Given the description of an element on the screen output the (x, y) to click on. 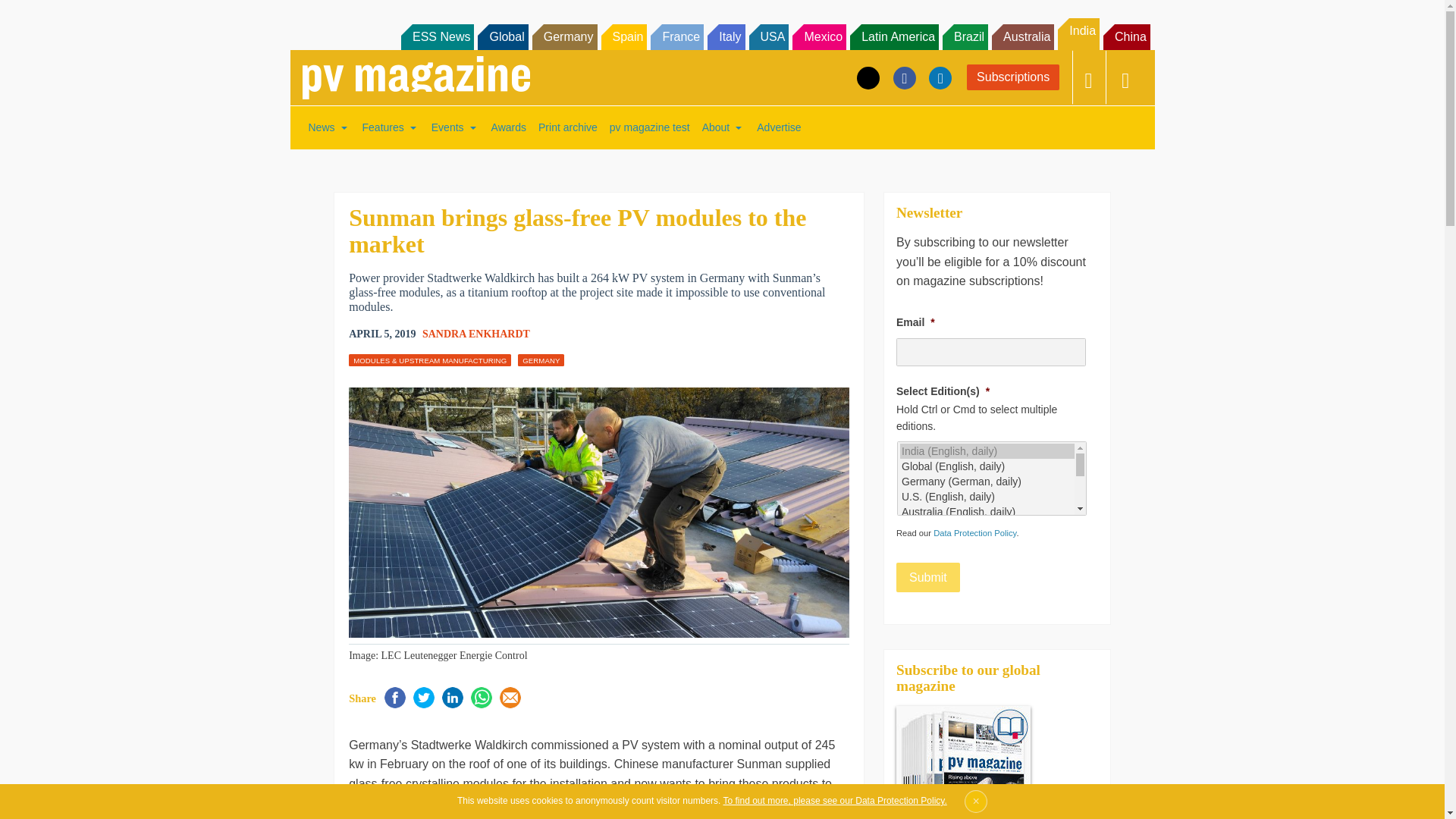
Posts by Sandra Enkhardt (475, 333)
Australia (1022, 36)
pv magazine - Photovoltaics Markets and Technology (415, 77)
Global (502, 36)
Search (32, 15)
Germany (564, 36)
Mexico (818, 36)
Subscriptions (1012, 77)
Spain (622, 36)
Italy (725, 36)
